Given the description of an element on the screen output the (x, y) to click on. 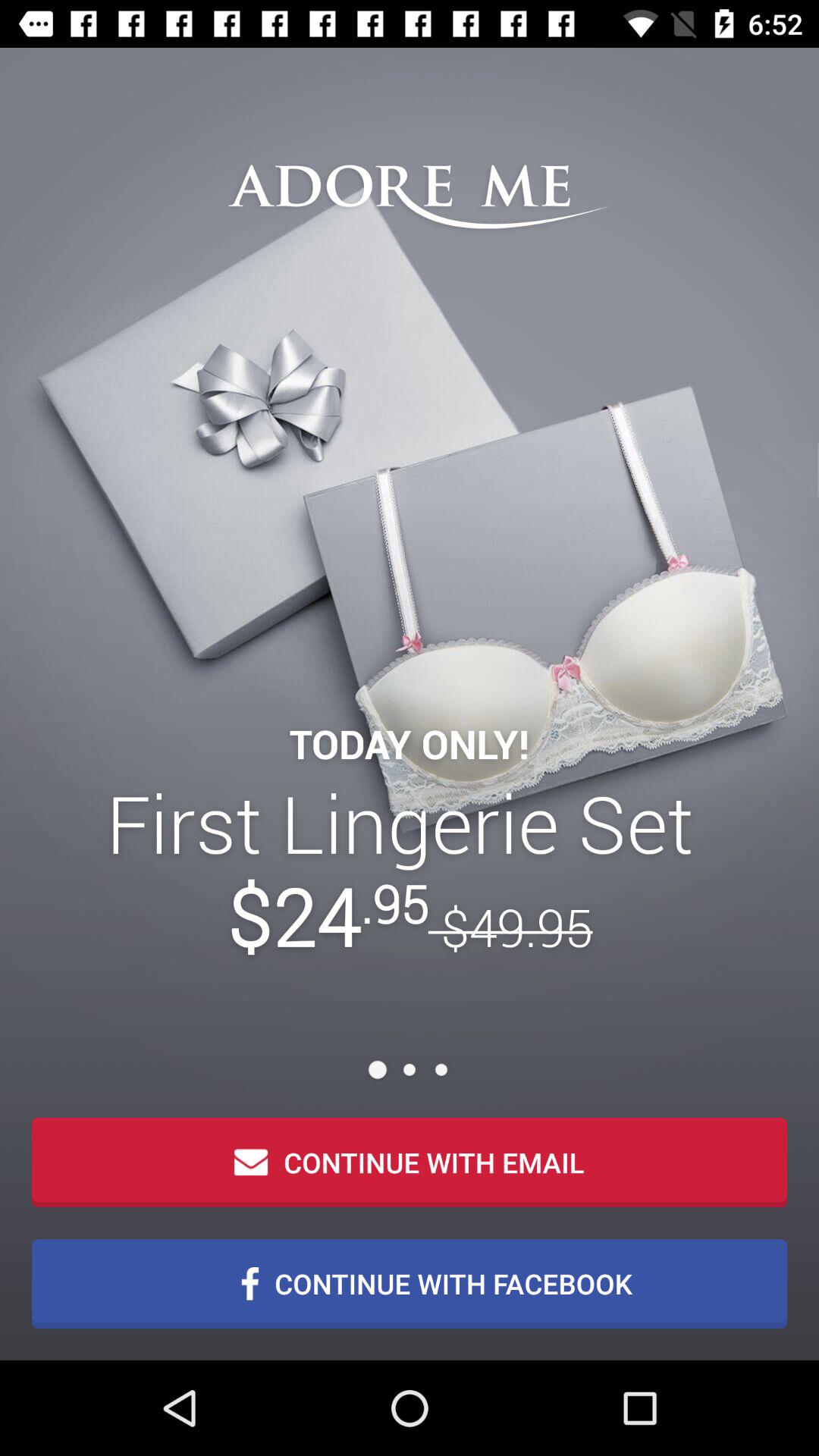
tap first lingerie set icon (409, 869)
